Given the description of an element on the screen output the (x, y) to click on. 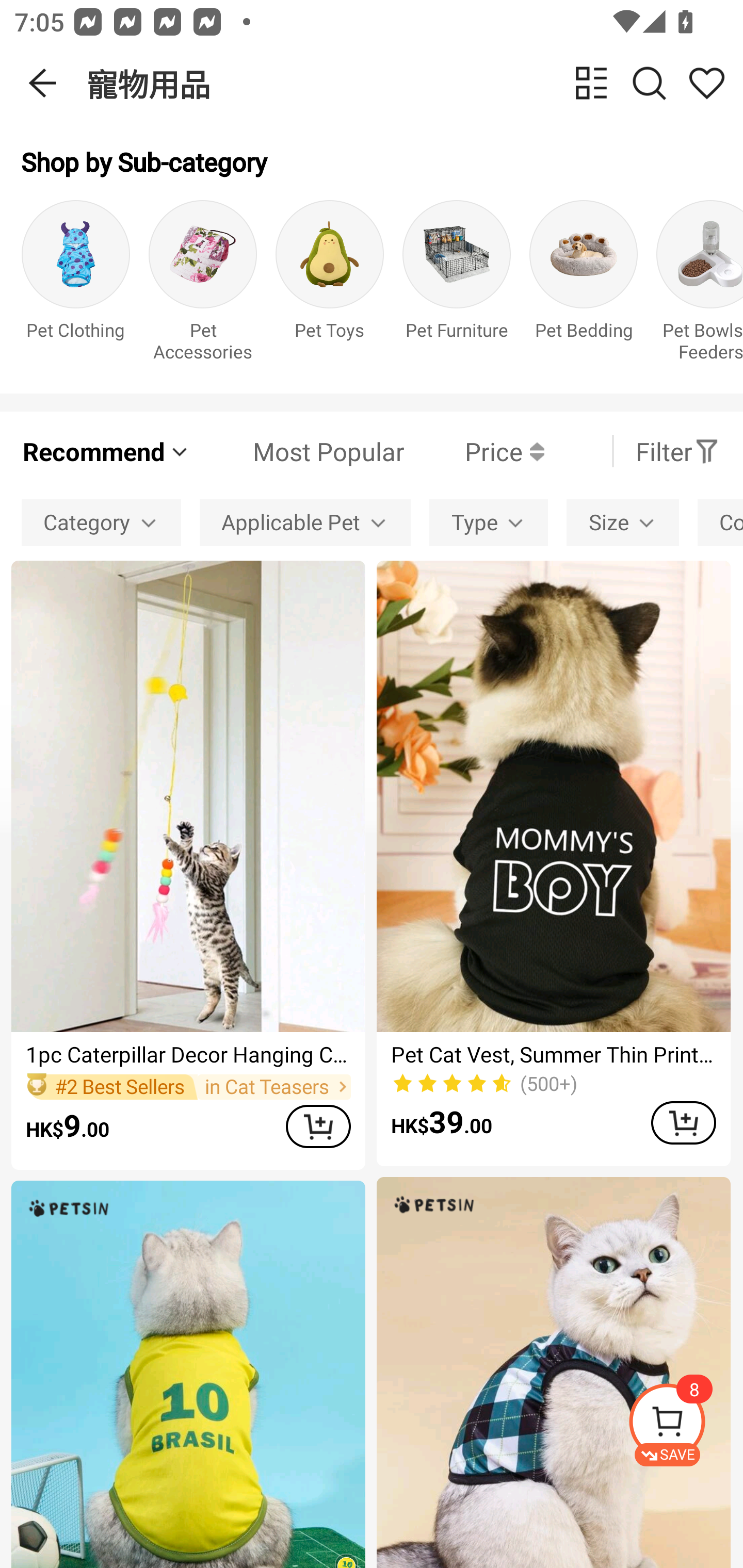
寵物用品 change view Search Share (414, 82)
change view (591, 82)
Search (648, 82)
Share (706, 82)
Pet Clothing (75, 285)
Pet Accessories (202, 285)
Pet Toys (329, 285)
Pet Furniture (456, 285)
Pet Bedding (583, 285)
Pet Bowls & Feeders (699, 285)
Recommend (106, 450)
Most Popular (297, 450)
Price (474, 450)
Filter (677, 450)
Category (101, 521)
Applicable Pet (304, 521)
Type (488, 521)
Size (622, 521)
#2 Best Sellers in Cat Teasers (188, 1086)
ADD TO CART (683, 1122)
ADD TO CART (318, 1126)
PETSIN 1pc Plaid Pattern Pet Tank (553, 1372)
PETSIN Letter Graphic Pet Tank (188, 1374)
SAVE (685, 1424)
